Given the description of an element on the screen output the (x, y) to click on. 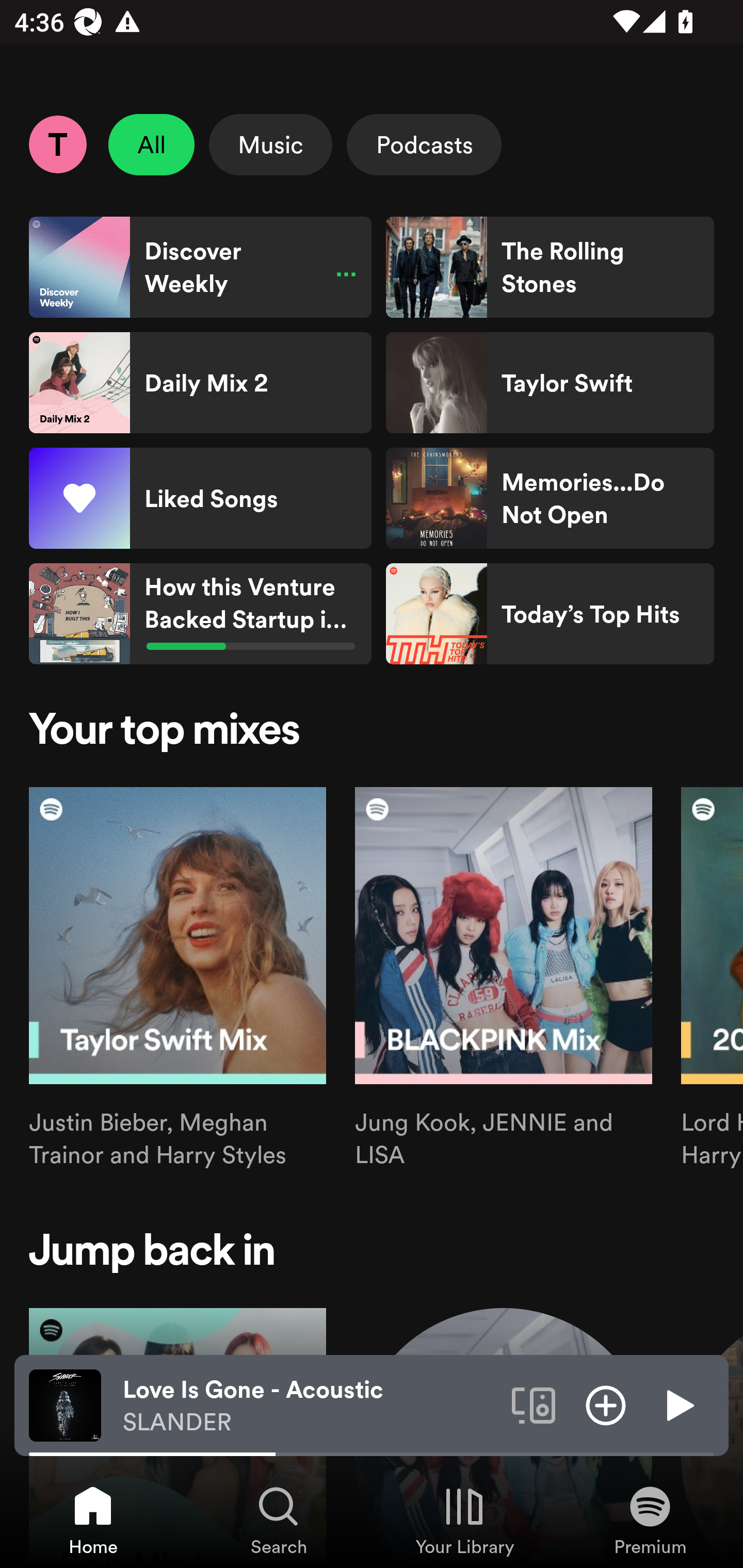
Profile (57, 144)
All Unselect All (151, 144)
Music Select Music (270, 144)
Podcasts Select Podcasts (423, 144)
Discover Weekly Shortcut Discover Weekly Paused (199, 267)
The Rolling Stones Shortcut The Rolling Stones (549, 267)
Daily Mix 2 Shortcut Daily Mix 2 (199, 382)
Taylor Swift Shortcut Taylor Swift (549, 382)
Liked Songs Shortcut Liked Songs (199, 498)
Today’s Top Hits Shortcut Today’s Top Hits (549, 613)
Love Is Gone - Acoustic SLANDER (309, 1405)
The cover art of the currently playing track (64, 1404)
Connect to a device. Opens the devices menu (533, 1404)
Add item (605, 1404)
Play (677, 1404)
Home, Tab 1 of 4 Home Home (92, 1519)
Search, Tab 2 of 4 Search Search (278, 1519)
Your Library, Tab 3 of 4 Your Library Your Library (464, 1519)
Premium, Tab 4 of 4 Premium Premium (650, 1519)
